Given the description of an element on the screen output the (x, y) to click on. 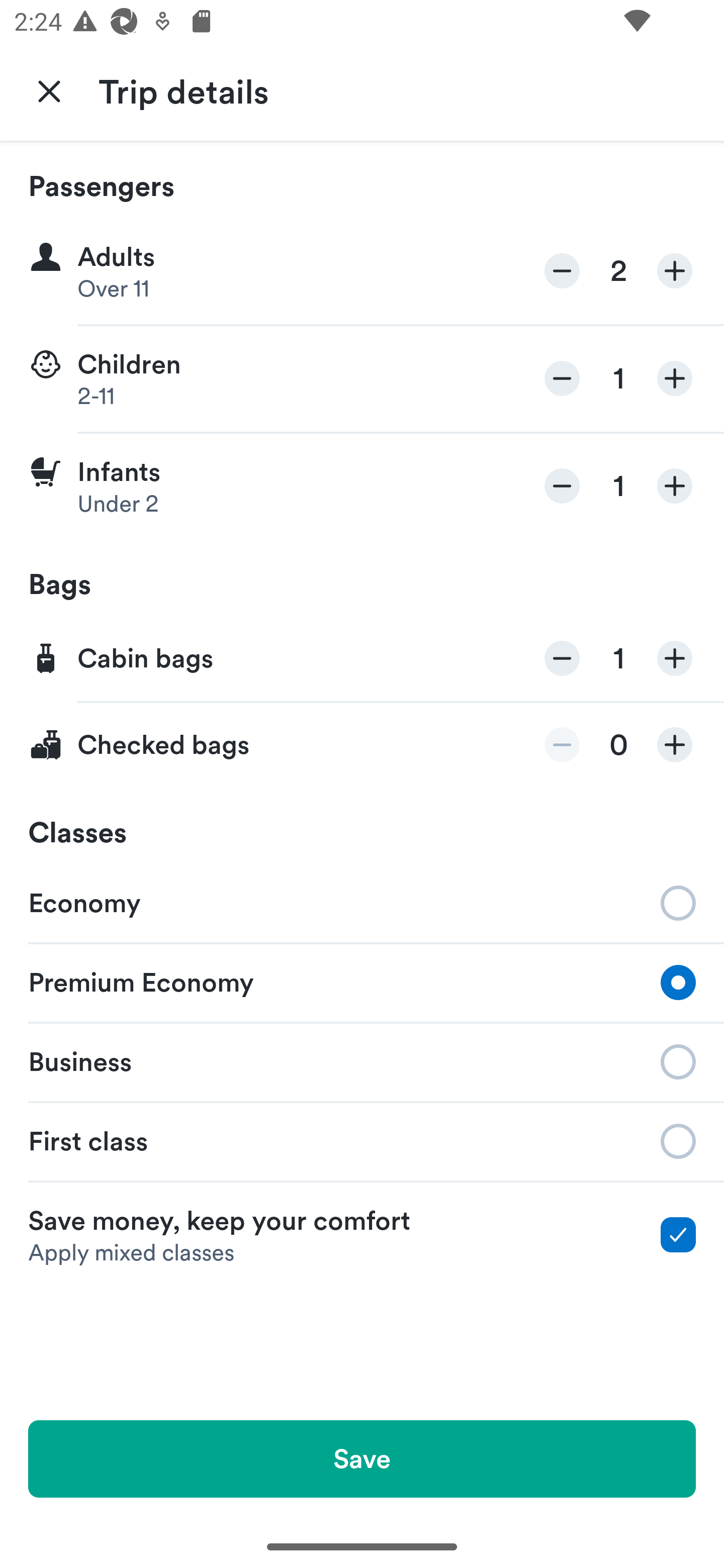
Navigate up (49, 90)
Remove 2 Add Adults Over 11 (362, 271)
Remove (561, 270)
Add (674, 270)
Remove 1 Add Children 2-11 (362, 379)
Remove (561, 377)
Add (674, 377)
Remove 1 Add Infants Under 2 (362, 485)
Remove (561, 485)
Add (674, 485)
Remove 1 Add Cabin bags (362, 659)
Remove (561, 658)
Add (674, 658)
Remove 0 Add Checked bags (362, 744)
Remove (561, 744)
Add (674, 744)
Economy (362, 901)
Business (362, 1060)
First class (362, 1141)
Save (361, 1458)
